Given the description of an element on the screen output the (x, y) to click on. 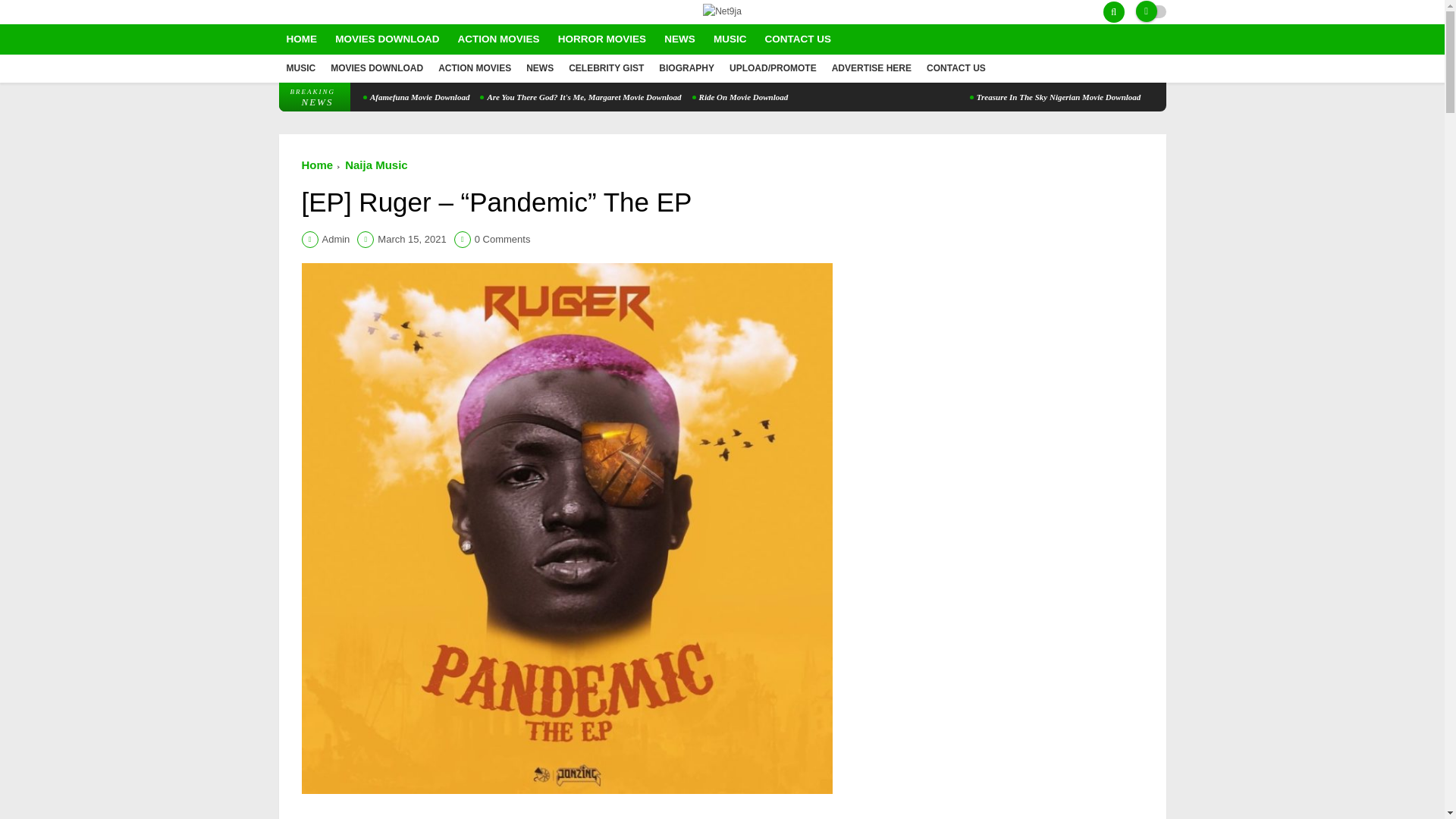
Home (317, 165)
Are You There God? It's Me, Margaret Movie Download (580, 96)
NEWS (539, 68)
MUSIC (300, 68)
MOVIES DOWNLOAD (386, 39)
ACTION MOVIES (474, 68)
MOVIES DOWNLOAD (376, 68)
CONTACT US (798, 39)
Treasure In The Sky Nigerian Movie Download  (1055, 96)
Treasure In The Sky Nigerian Movie Download (1055, 96)
CONTACT US (955, 68)
Afamefuna Movie Download  (415, 96)
Are You There God? It's Me, Margaret Movie Download (580, 96)
Ride On Movie Download  (741, 96)
Naija Music (376, 165)
